Given the description of an element on the screen output the (x, y) to click on. 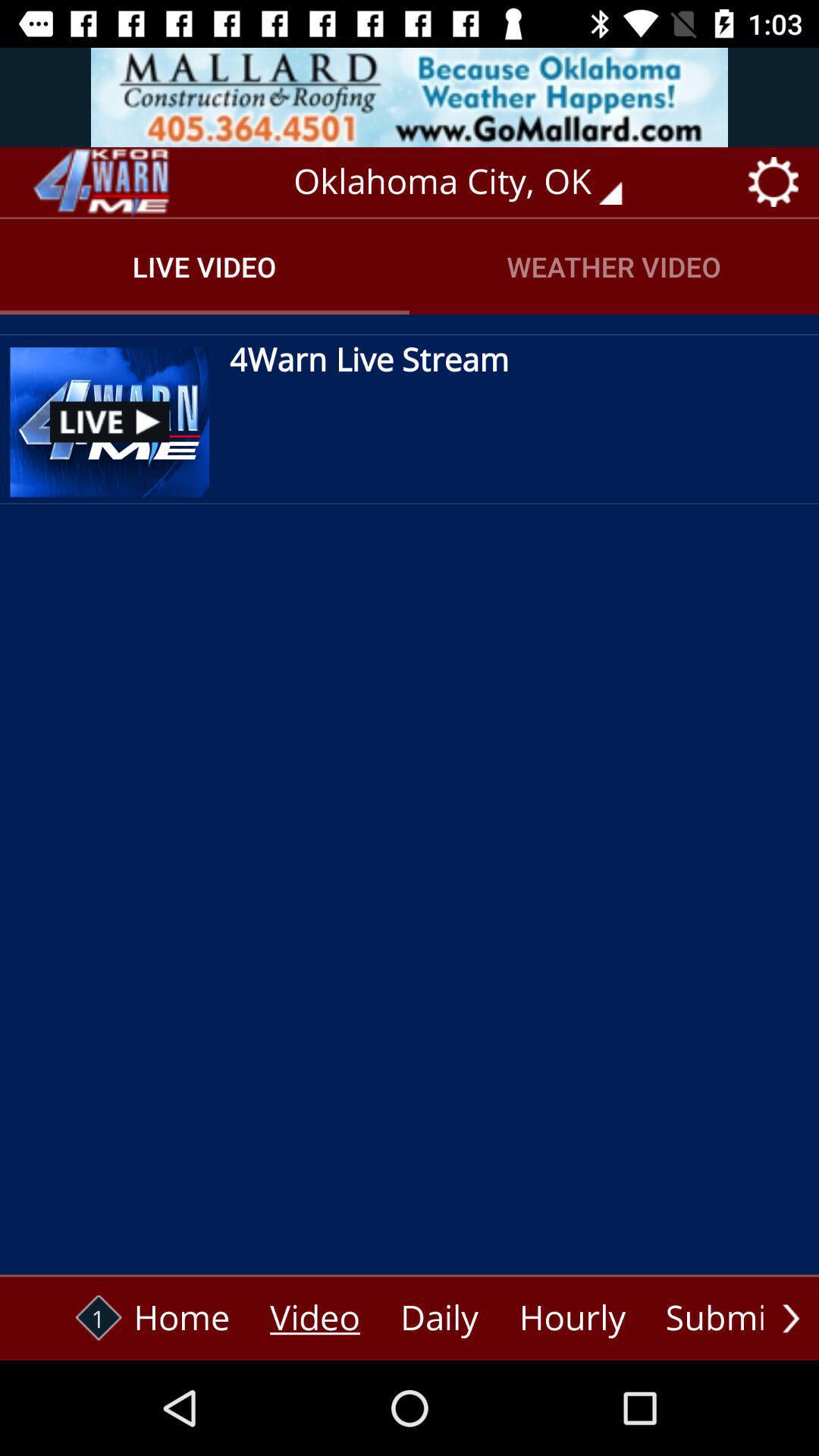
turn off item next to oklahoma city, ok (99, 182)
